Given the description of an element on the screen output the (x, y) to click on. 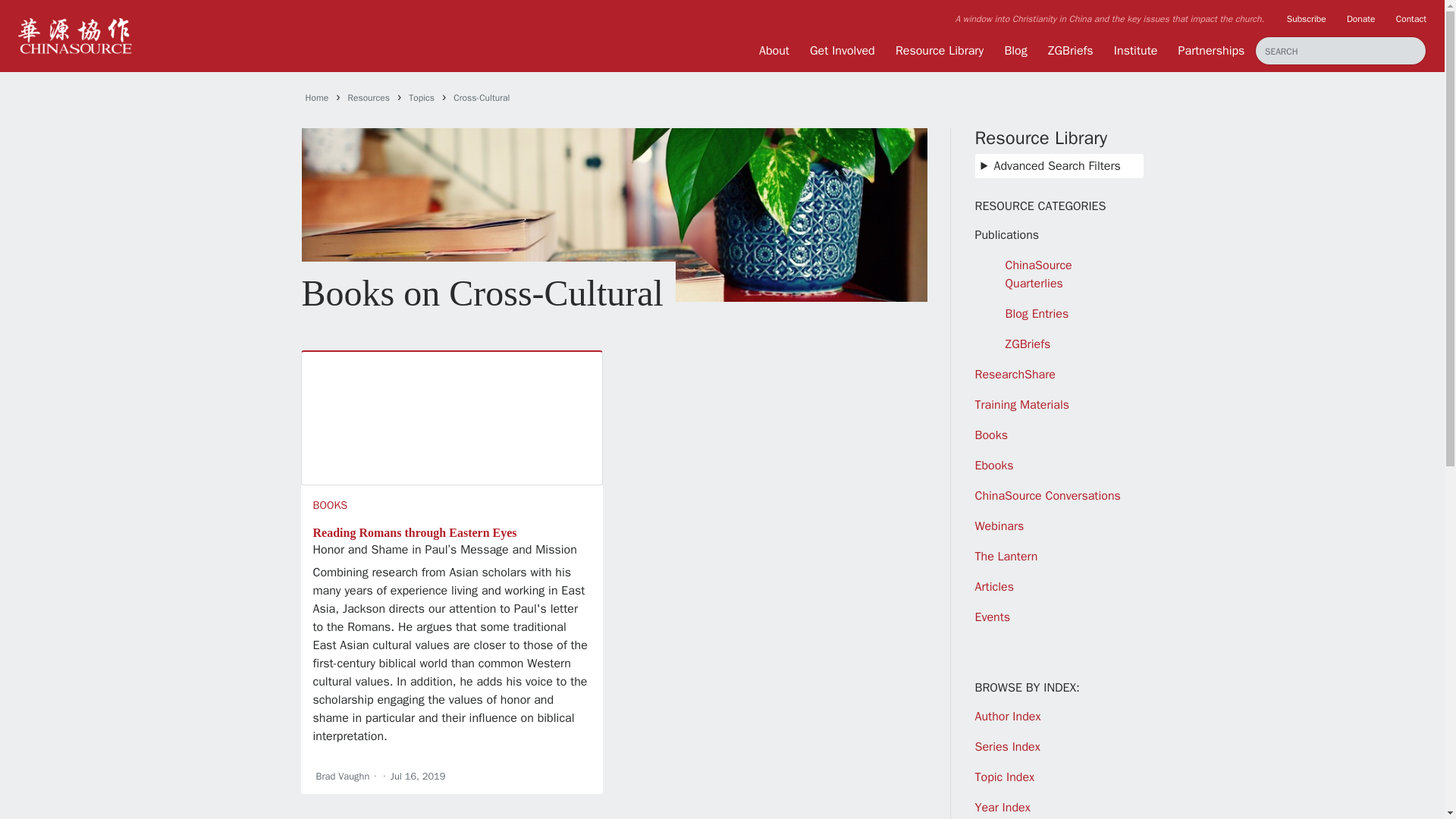
About (773, 50)
Webinars (1000, 525)
Resource Library (939, 50)
Articles (994, 586)
Series Index (1008, 746)
ZGBriefs (1028, 344)
ChinaSource Conversations (1048, 495)
ChinaSource Quarterlies (1038, 274)
Contact (1411, 18)
Resources (368, 97)
